Given the description of an element on the screen output the (x, y) to click on. 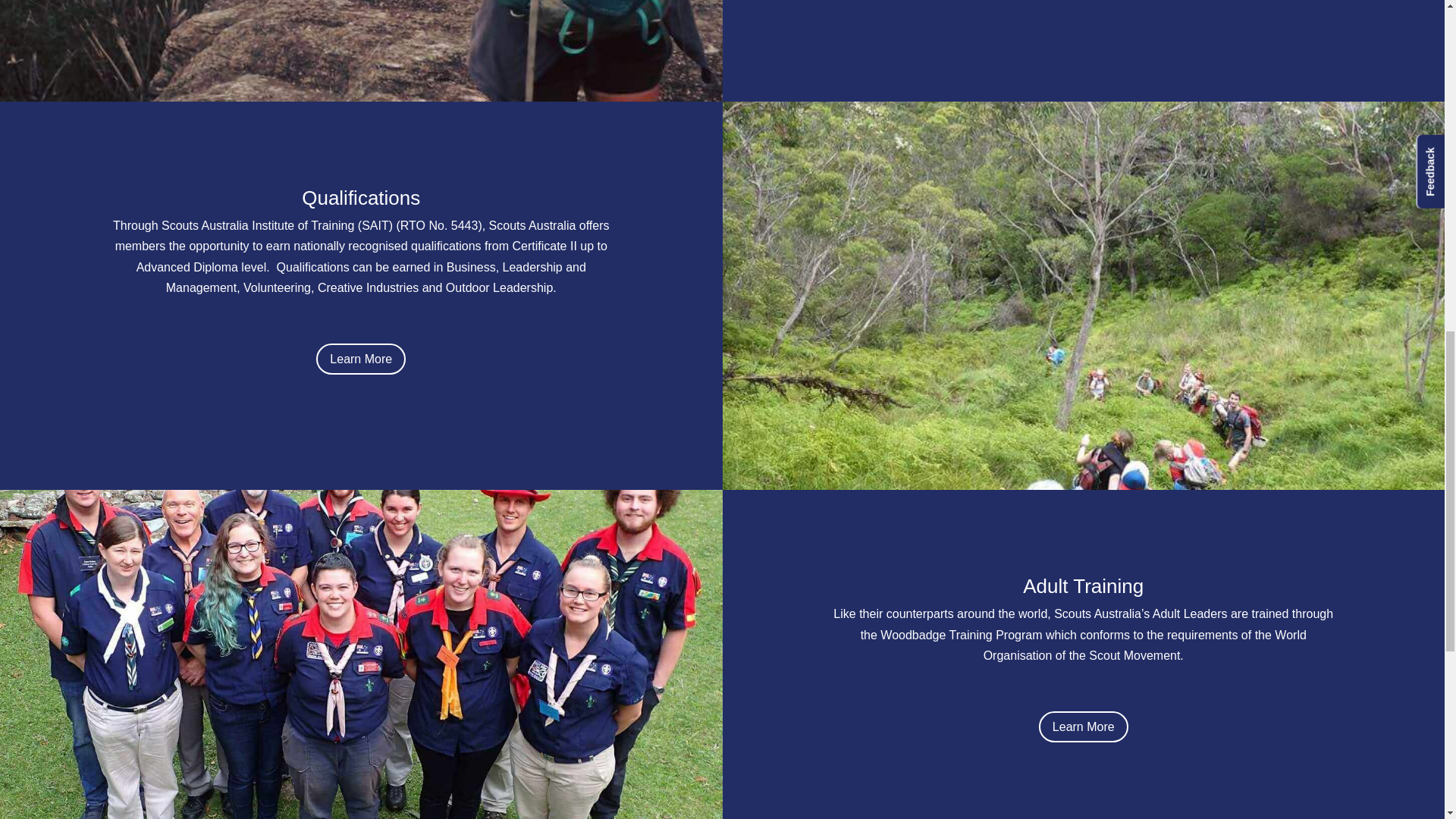
Learn More (360, 358)
Learn More (1083, 726)
